Given the description of an element on the screen output the (x, y) to click on. 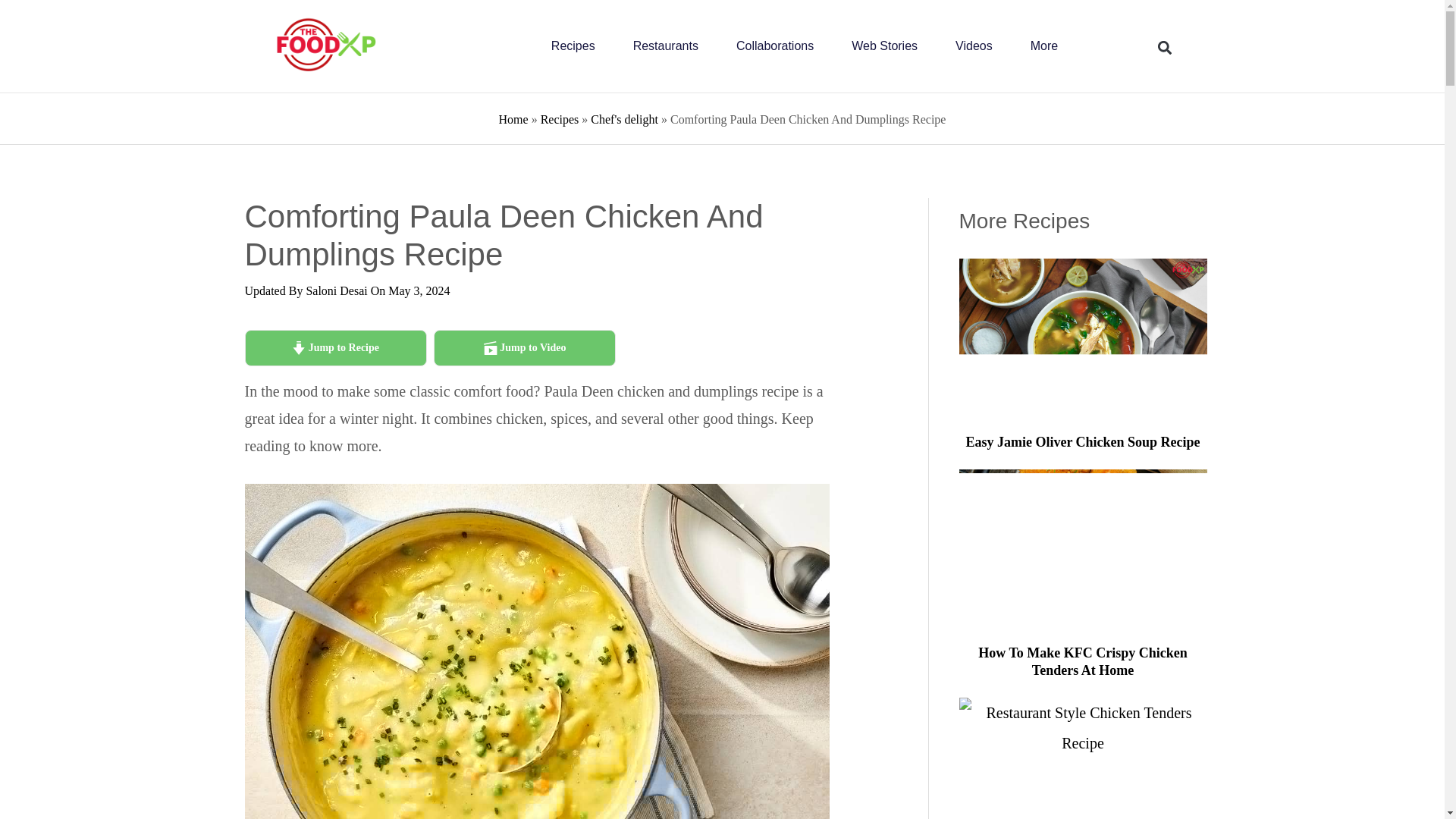
Restaurants (665, 45)
Web Stories (884, 45)
Videos (973, 45)
Recipes (573, 45)
Jump to Video (524, 348)
Jump to Recipe (335, 348)
Collaborations (774, 45)
